Given the description of an element on the screen output the (x, y) to click on. 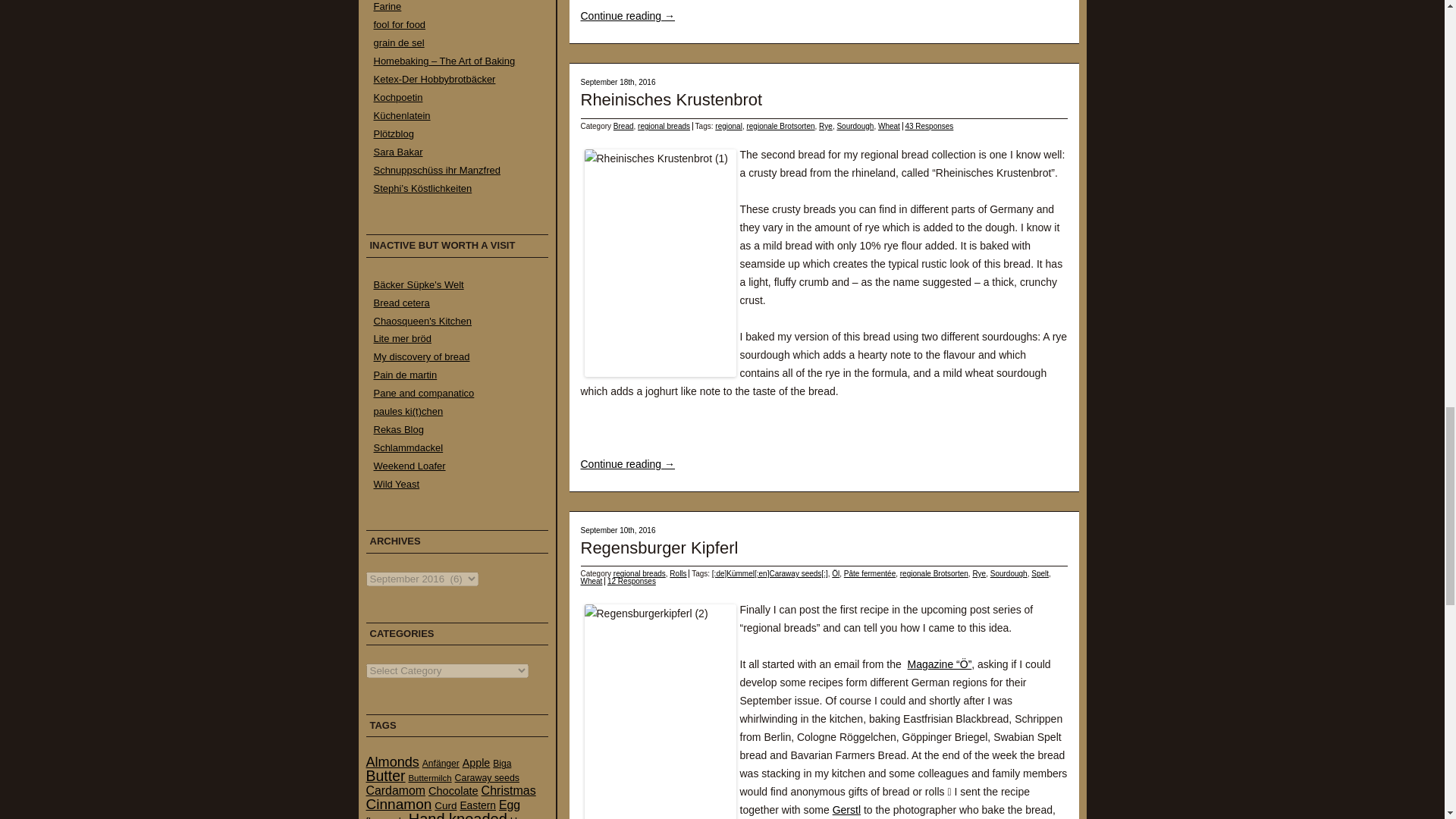
Permalink to Regensburger Kipferl (659, 547)
Permalink to Rheinisches Krustenbrot (671, 99)
Rheinisches Krustenbrot (671, 99)
